Given the description of an element on the screen output the (x, y) to click on. 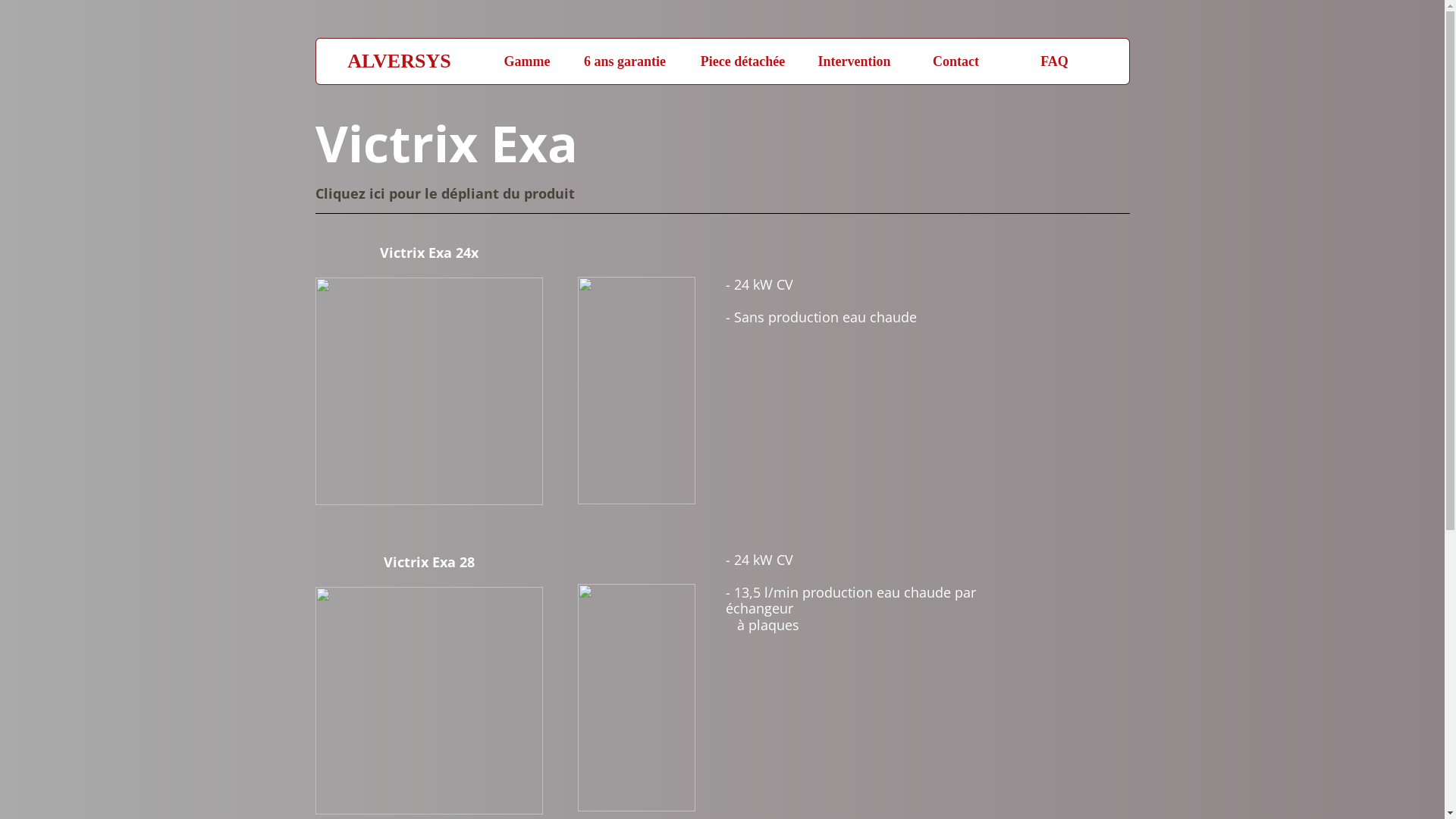
ALVERSYS Element type: text (399, 61)
FAQ Element type: text (1054, 61)
Contact Element type: text (955, 61)
6 ans garantie Element type: text (624, 61)
Intervention Element type: text (854, 61)
Gamme Element type: text (527, 61)
